Given the description of an element on the screen output the (x, y) to click on. 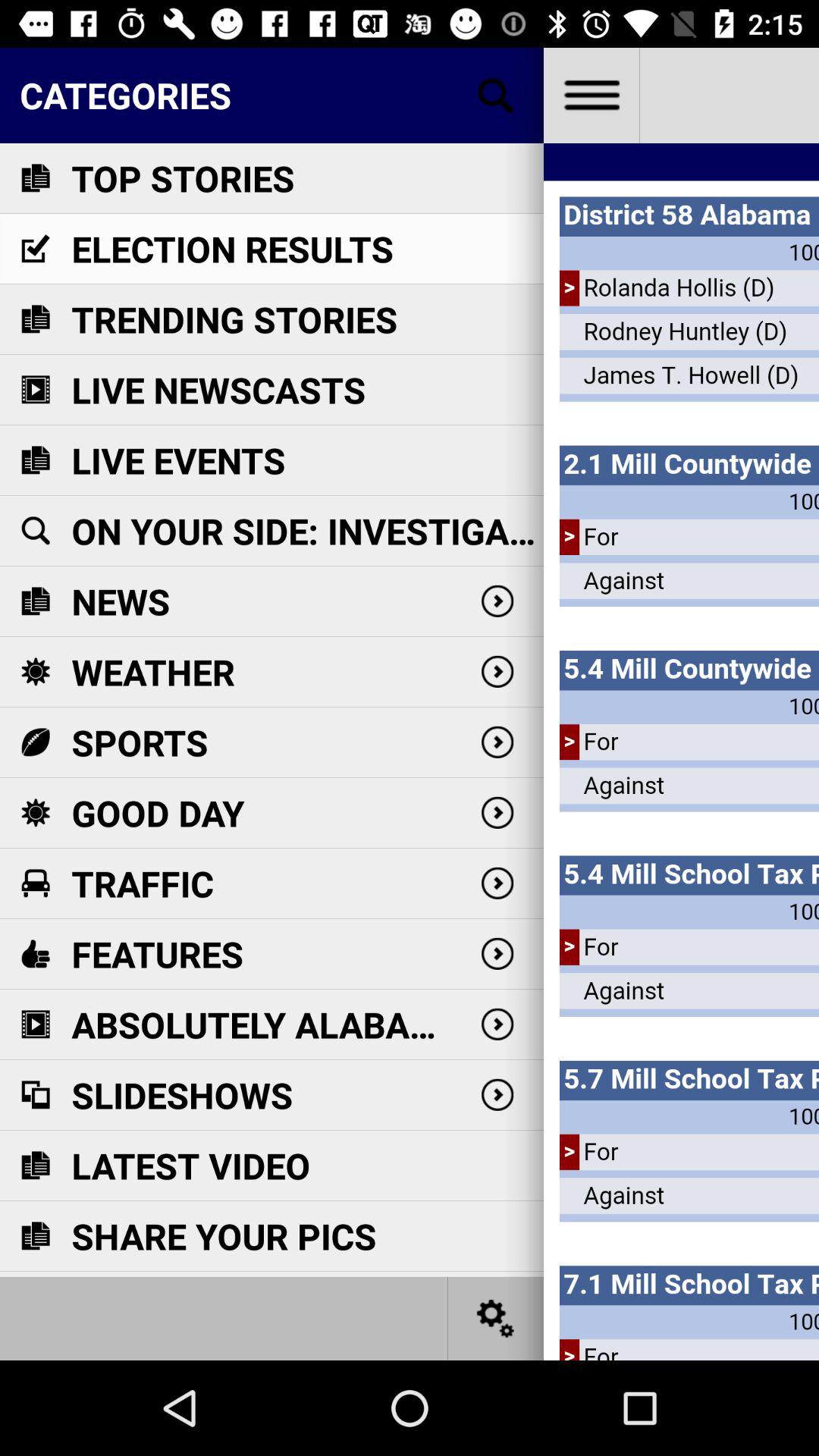
menu icon (591, 95)
